Given the description of an element on the screen output the (x, y) to click on. 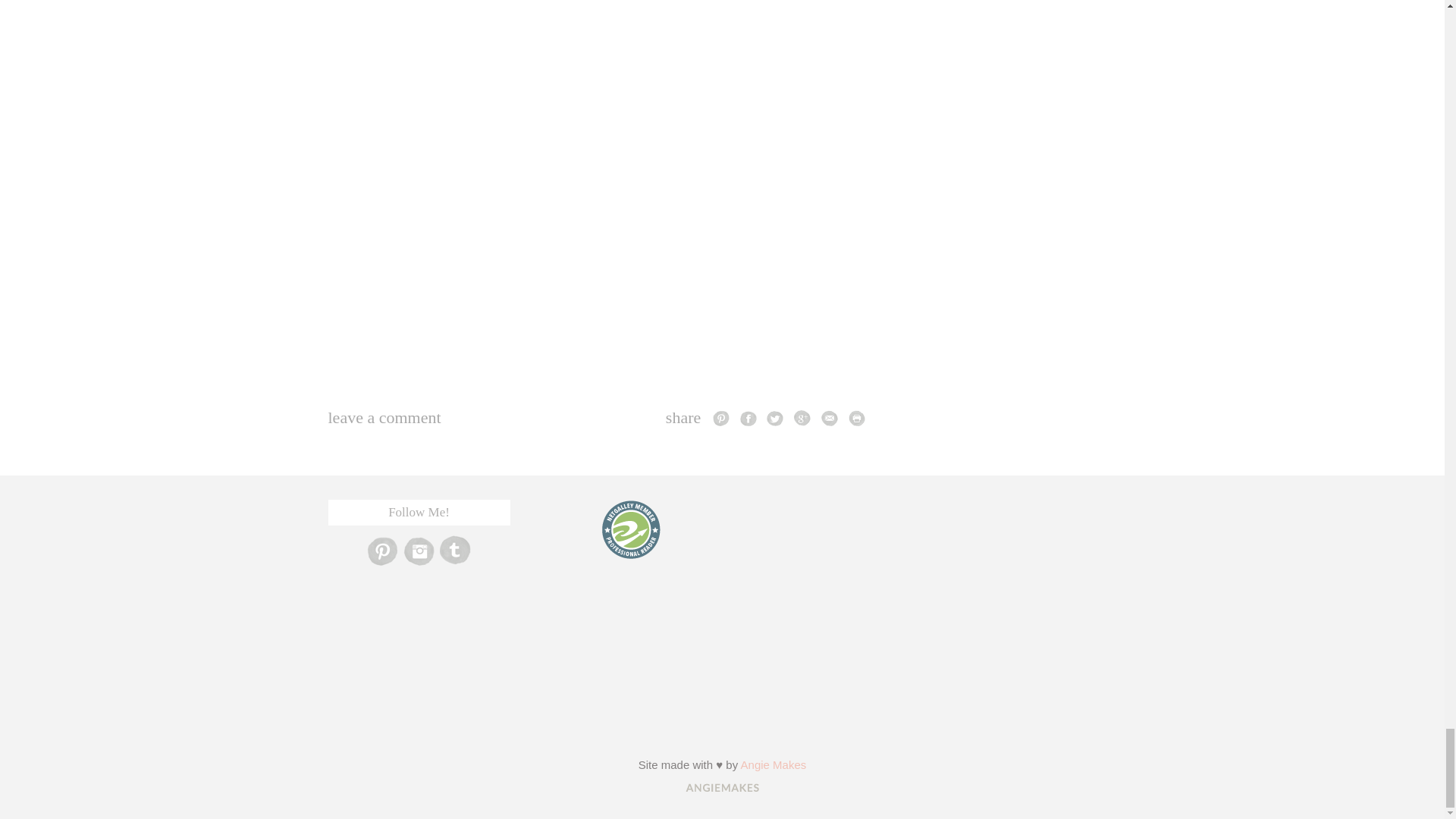
Share by Email (829, 417)
Professional Reader (630, 529)
leave a comment (384, 416)
Angie Makes (773, 764)
